Given the description of an element on the screen output the (x, y) to click on. 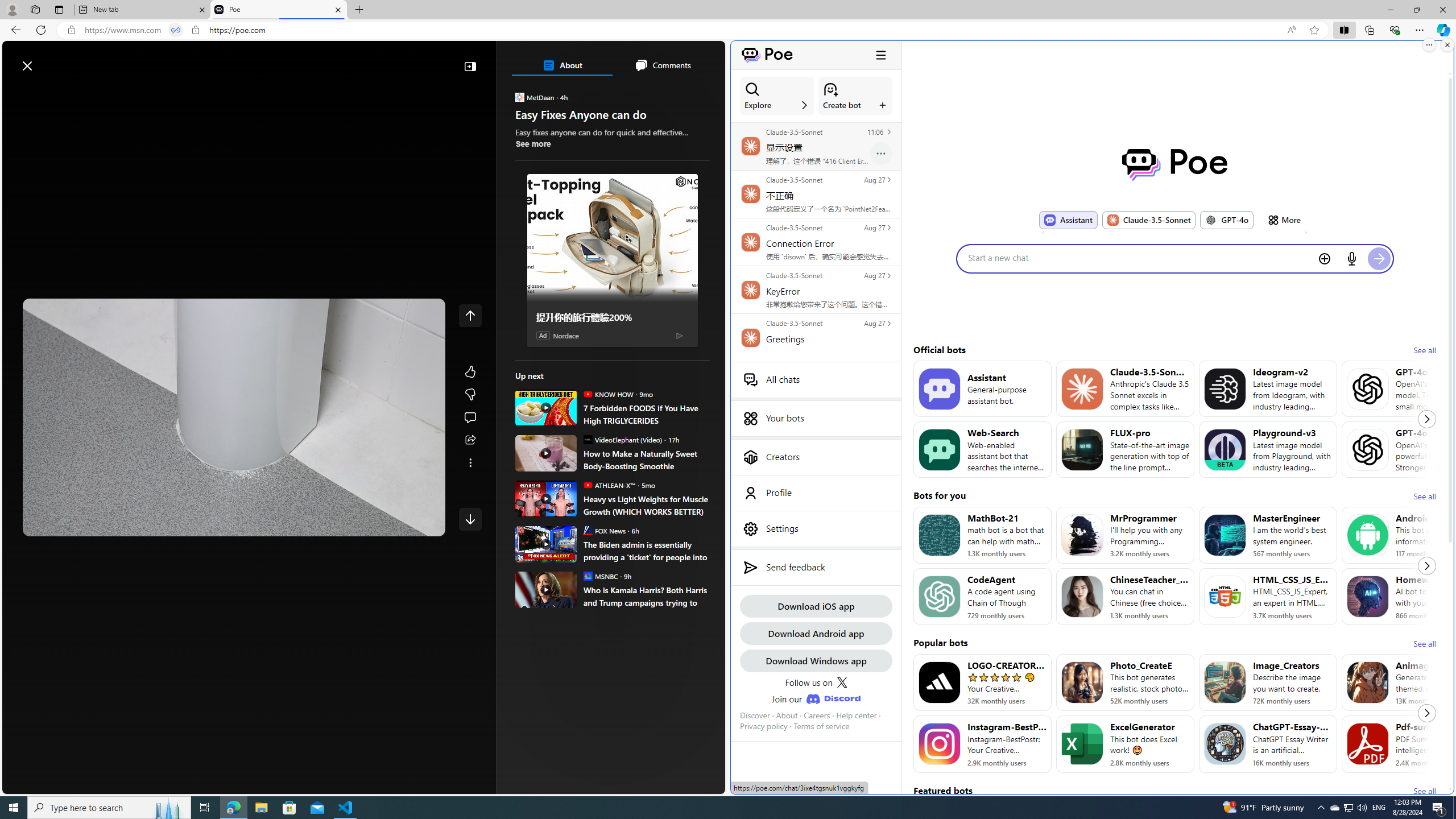
Class: control (469, 518)
Bot image for Ideogram-v2 (1224, 388)
Bot image for Claude-3.5-Sonnet (1081, 388)
All chats (815, 379)
7 Forbidden FOODS if You Have High TRIGLYCERIDES (646, 414)
Bot image for Pdf-summarizer-64K (1367, 743)
